Given the description of an element on the screen output the (x, y) to click on. 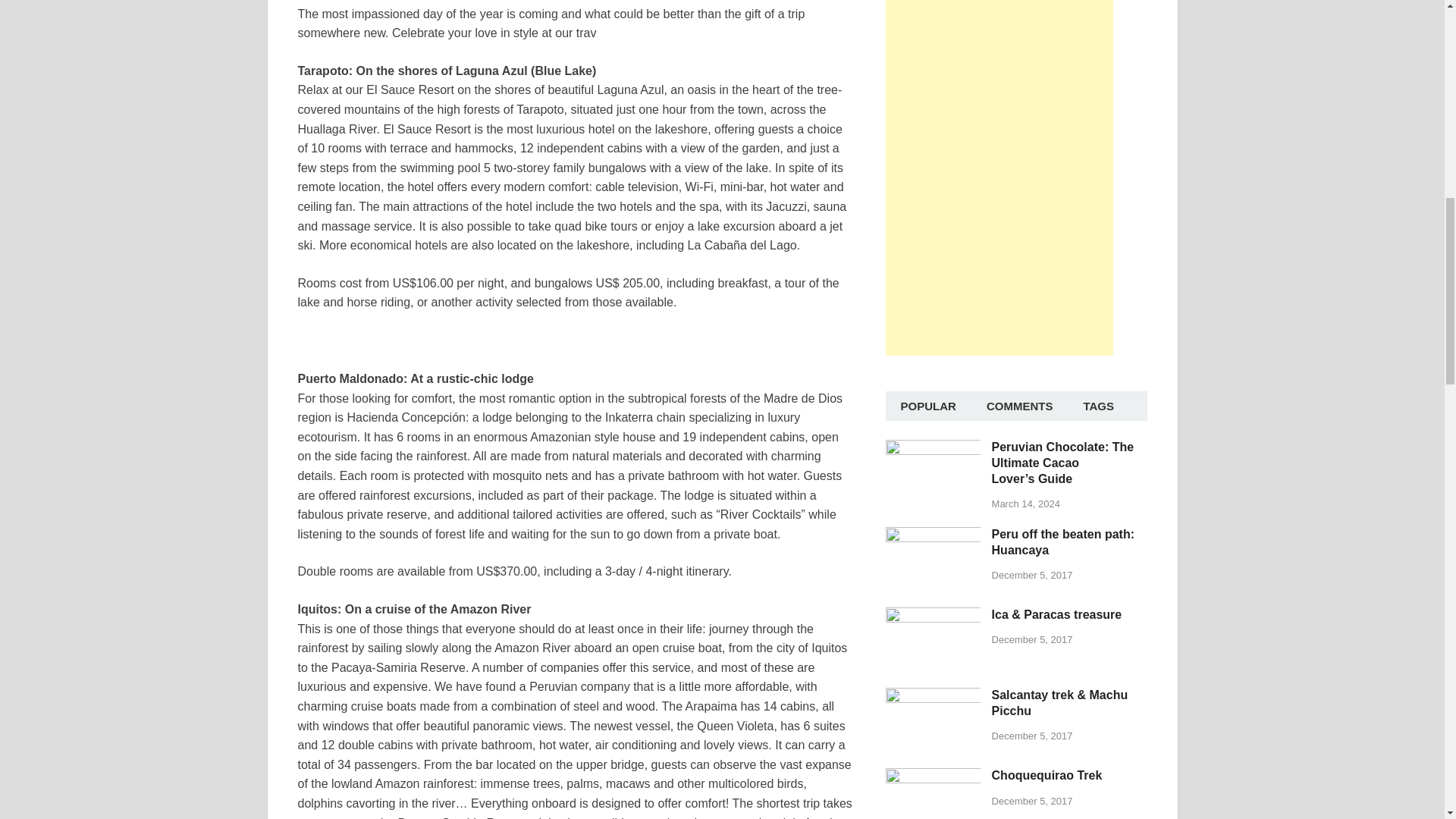
Choquequirao Trek (932, 779)
POPULAR (928, 406)
COMMENTS (1019, 406)
Peru off the beaten path: Huancaya (932, 537)
Peru off the beaten path: Huancaya (1062, 541)
TAGS (1098, 406)
